Given the description of an element on the screen output the (x, y) to click on. 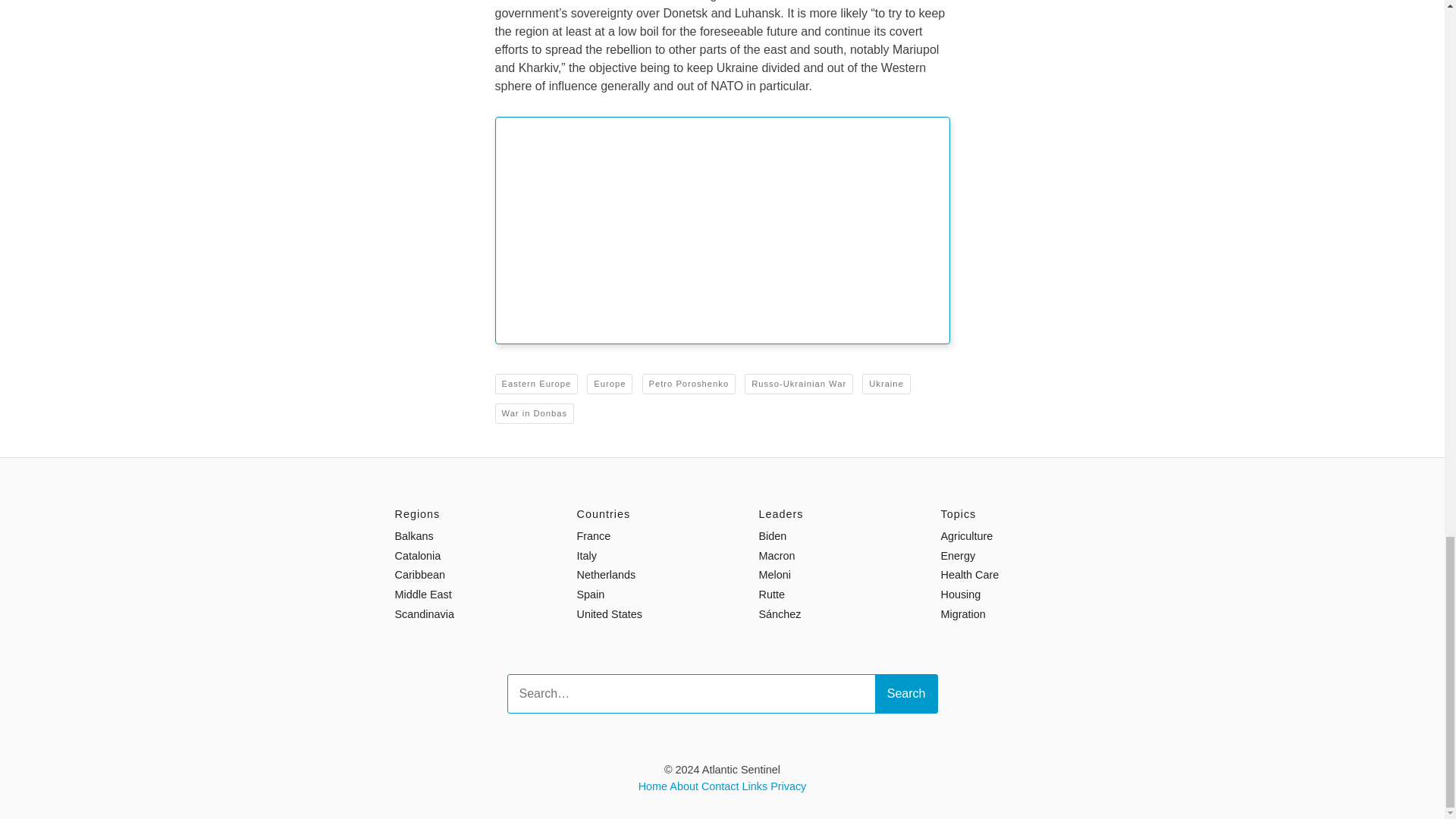
Health Care (969, 574)
War in Donbas (534, 413)
Italy (585, 555)
Ukraine (886, 383)
Home (652, 786)
Petro Poroshenko (689, 383)
Middle East (422, 594)
Agriculture (966, 535)
Caribbean (419, 574)
Spain (590, 594)
Balkans (413, 535)
Middle East (422, 594)
Spain (590, 594)
Scandinavia (423, 613)
Eastern Europe (536, 383)
